Given the description of an element on the screen output the (x, y) to click on. 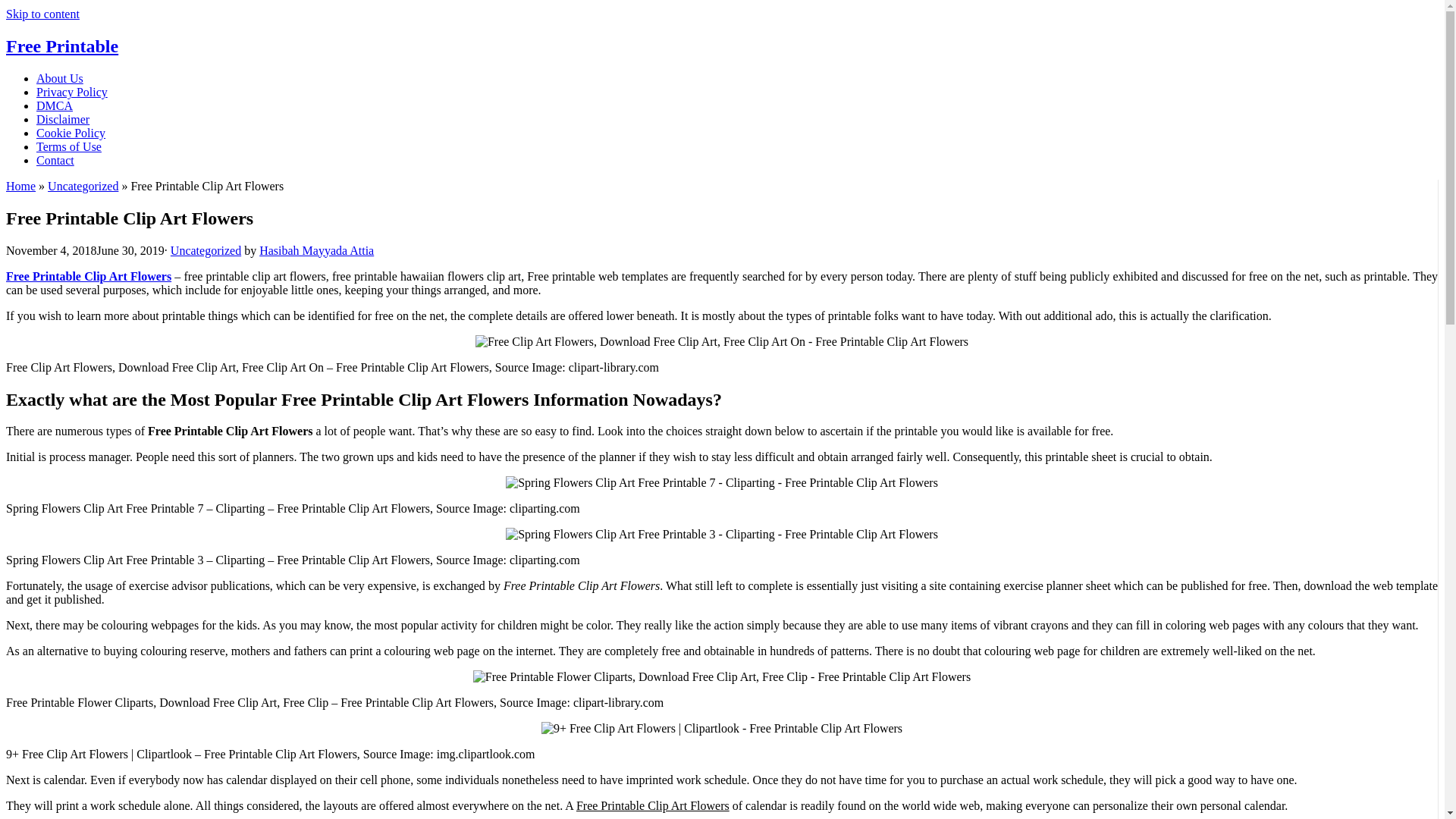
Hasibah Mayyada Attia (316, 250)
Contact (55, 160)
Uncategorized (82, 185)
Uncategorized (205, 250)
Privacy Policy (71, 91)
Skip to content (42, 13)
Cookie Policy (70, 132)
Terms of Use (68, 146)
Disclaimer (62, 119)
